Given the description of an element on the screen output the (x, y) to click on. 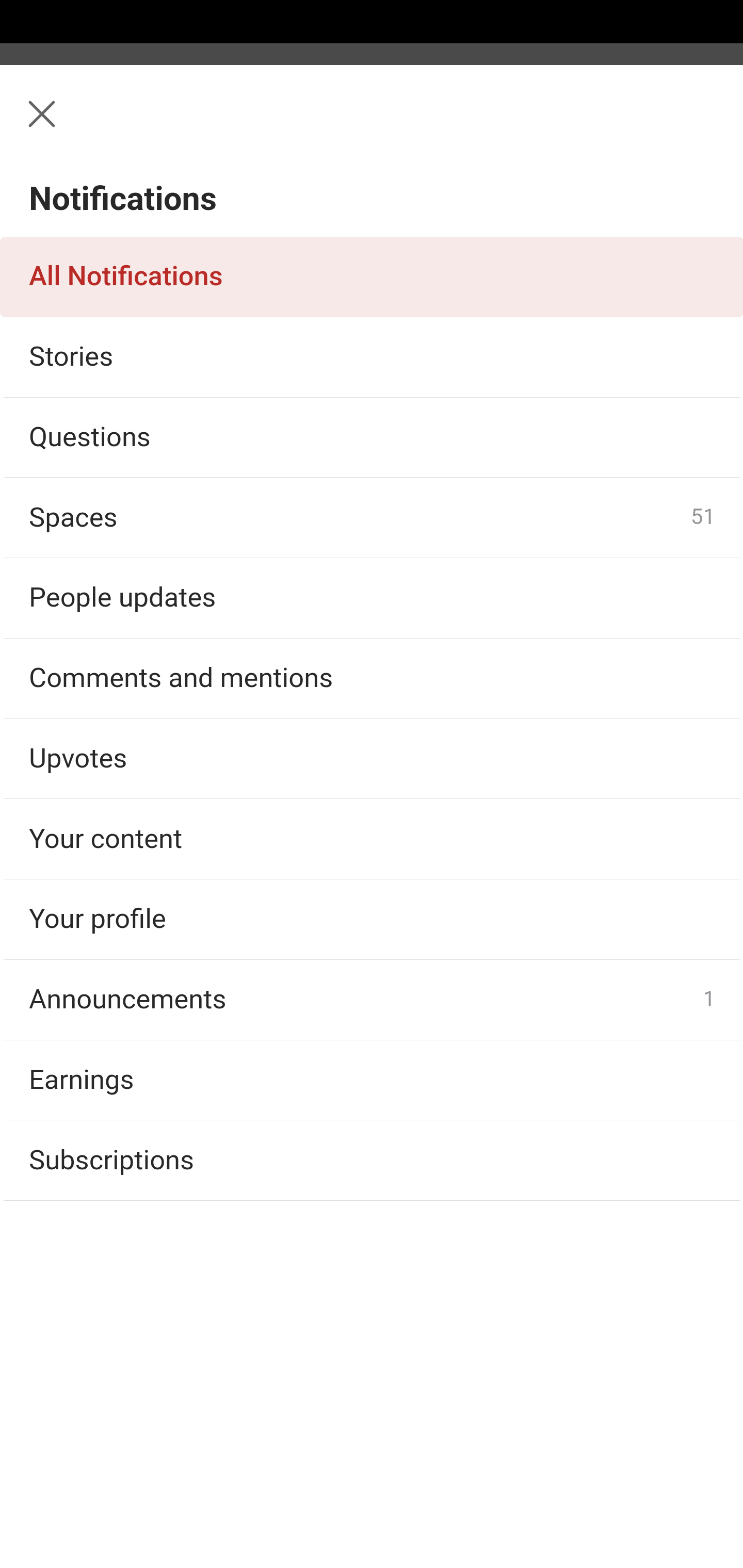
Me (64, 125)
Mark All As Read (135, 213)
